Given the description of an element on the screen output the (x, y) to click on. 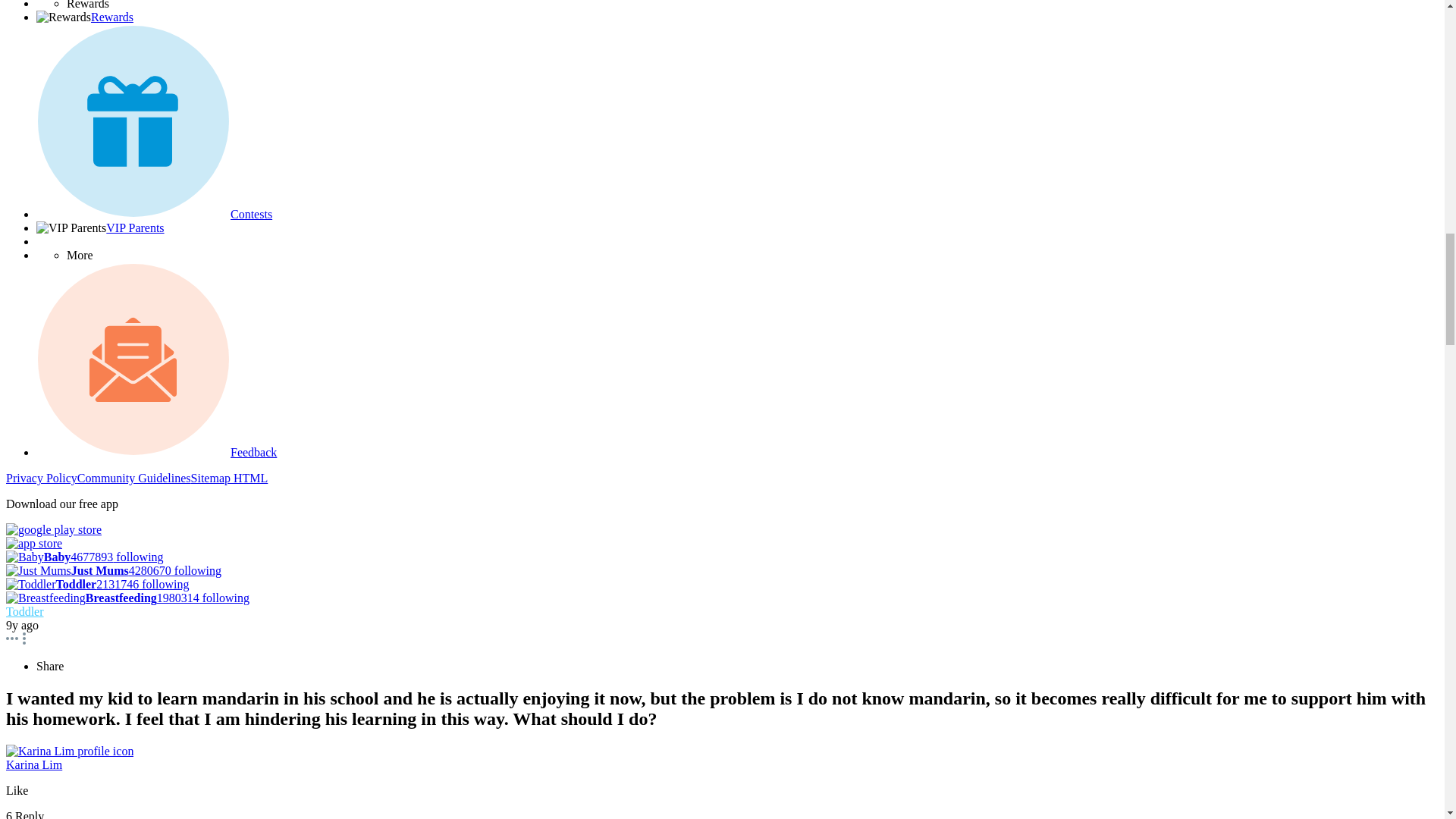
Community Guidelines (133, 477)
Baby4677893 following (84, 556)
Toddler2131746 following (97, 584)
Toddler (24, 611)
Sitemap HTML (228, 477)
Contests (251, 214)
Breastfeeding1980314 following (126, 597)
Just Mums4280670 following (113, 570)
VIP Parents (134, 227)
Rewards (111, 16)
